Given the description of an element on the screen output the (x, y) to click on. 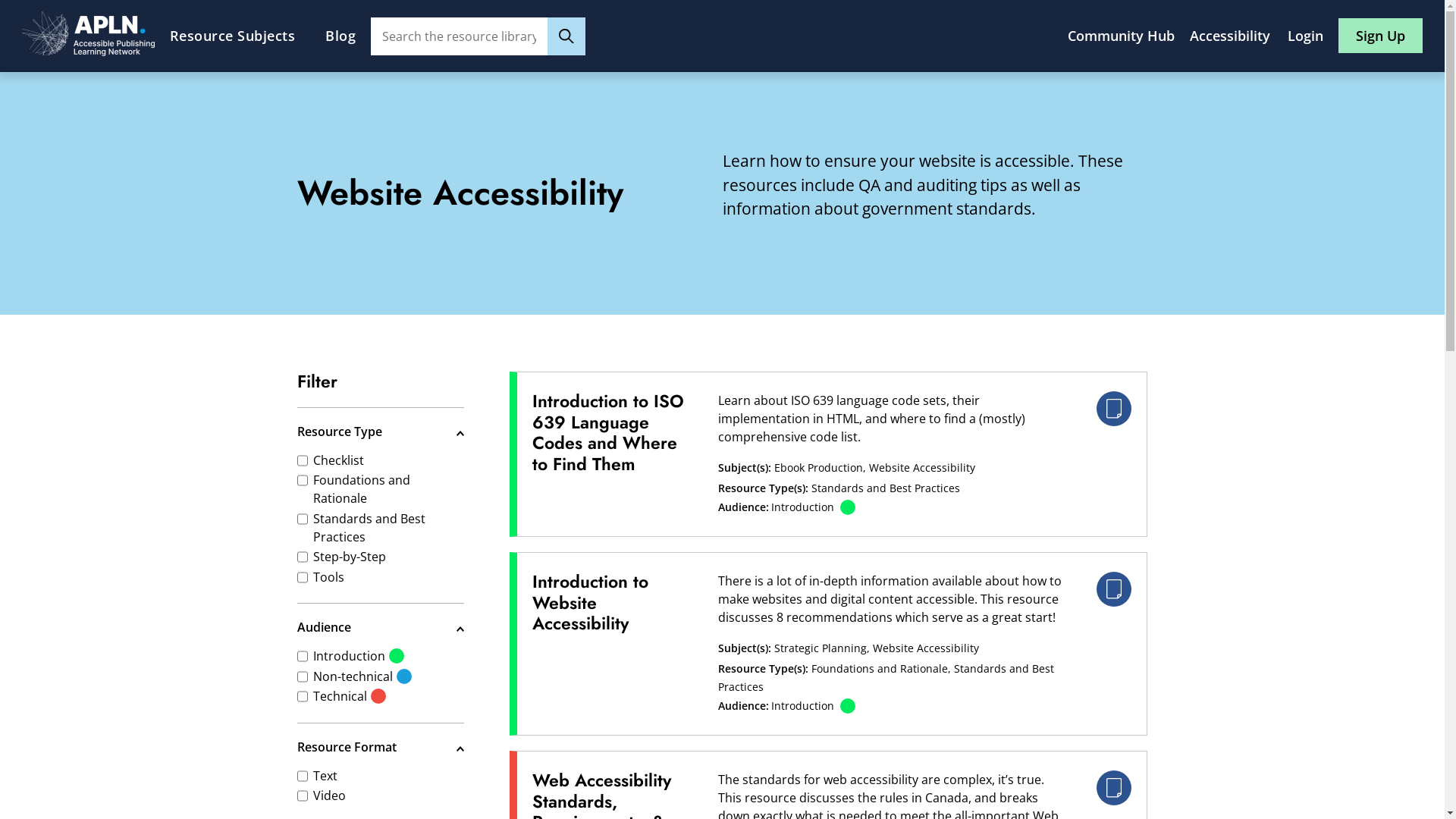
Sign Up Element type: text (1380, 35)
Audience Element type: text (380, 624)
Home Element type: text (87, 51)
Resource Format Element type: text (380, 744)
Resource Subjects Element type: text (232, 35)
Resource Type Element type: text (380, 429)
Blog Element type: text (340, 35)
Login Element type: text (1305, 35)
Search Element type: text (566, 35)
Accessibility Element type: text (1231, 35)
Community Hub Element type: text (1120, 35)
